Given the description of an element on the screen output the (x, y) to click on. 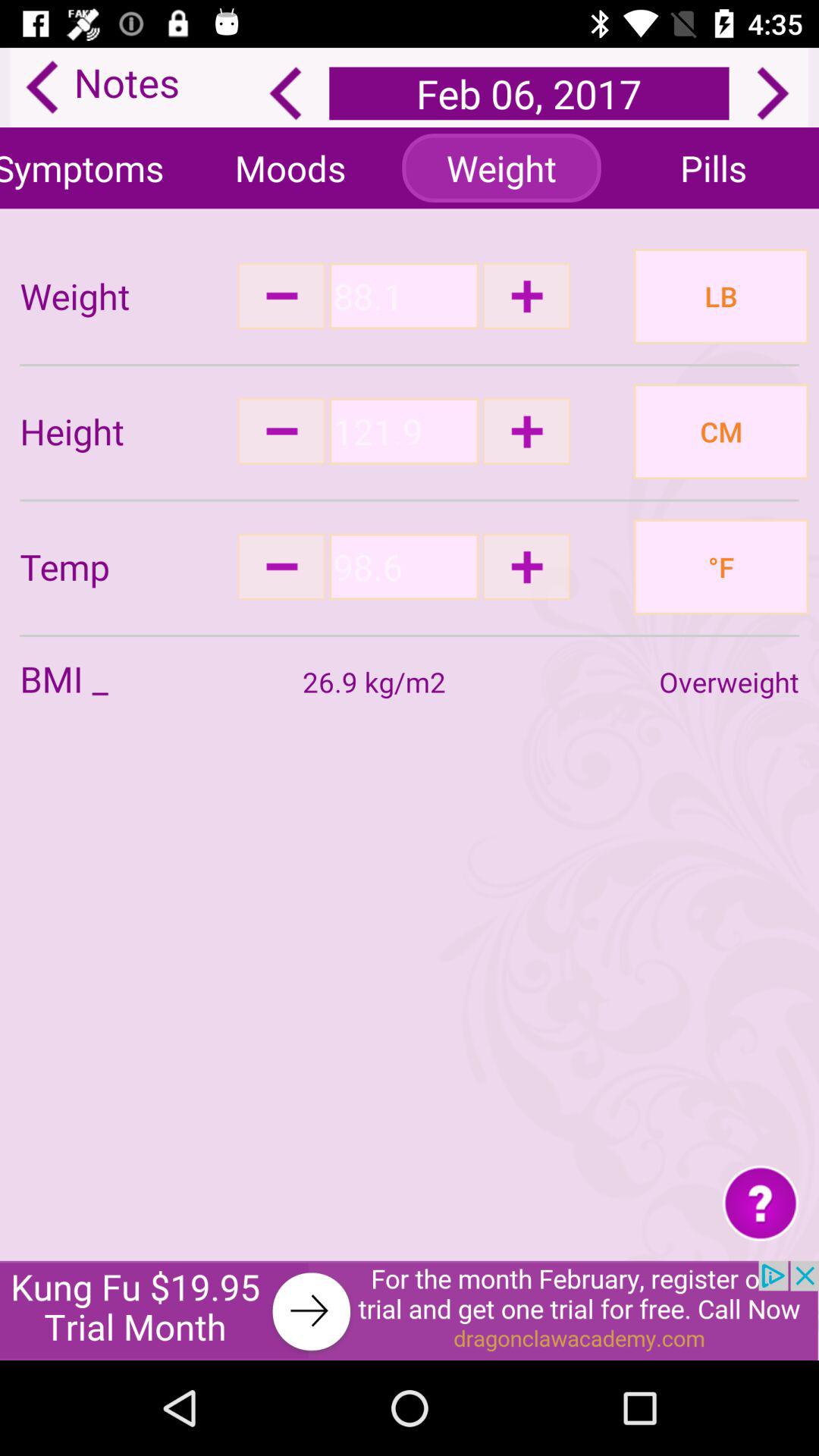
subtract or decrease the number button (281, 295)
